Given the description of an element on the screen output the (x, y) to click on. 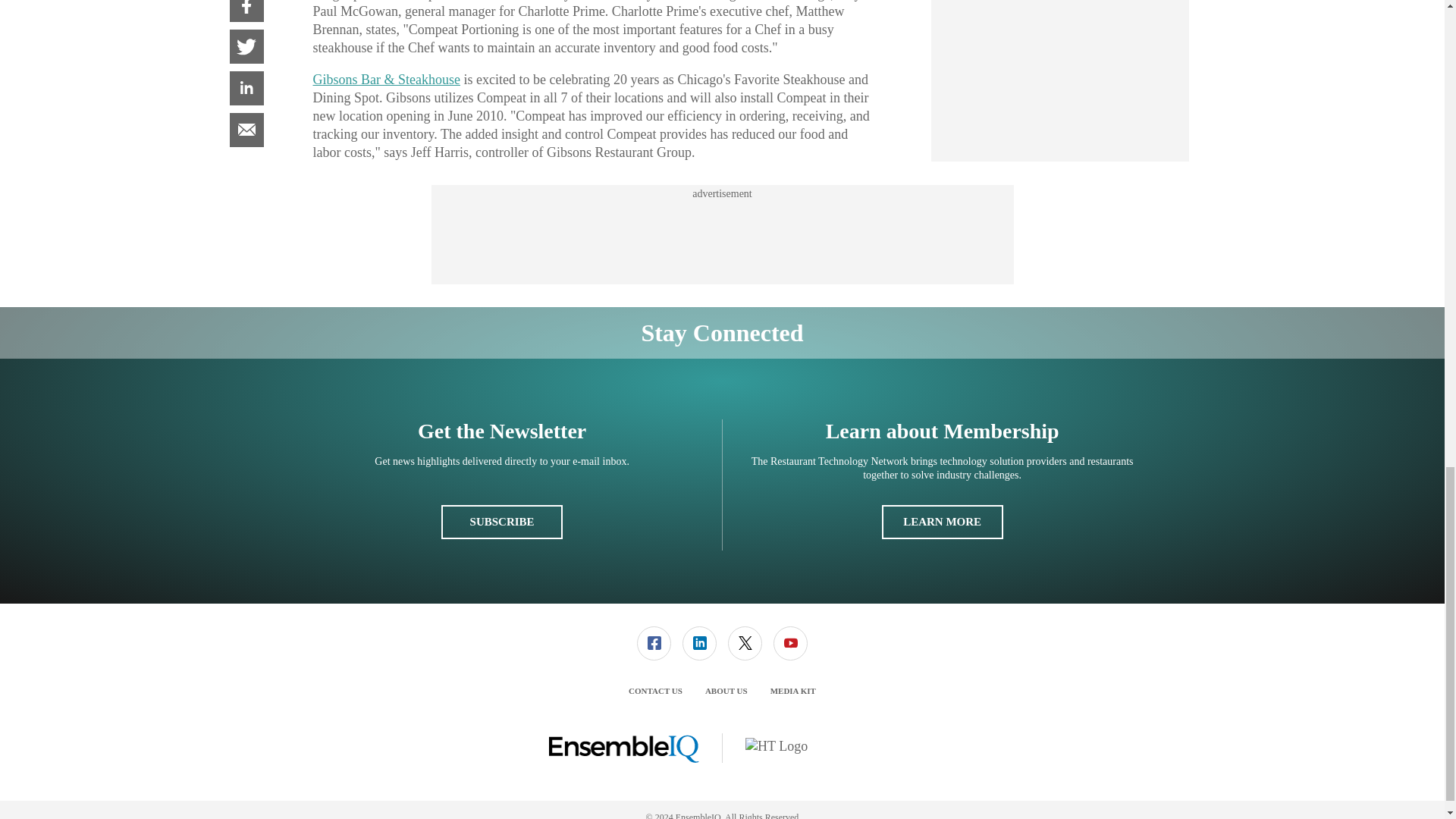
3rd party ad content (721, 234)
LEARN MORE (942, 521)
SUBSCRIBE (501, 521)
